Given the description of an element on the screen output the (x, y) to click on. 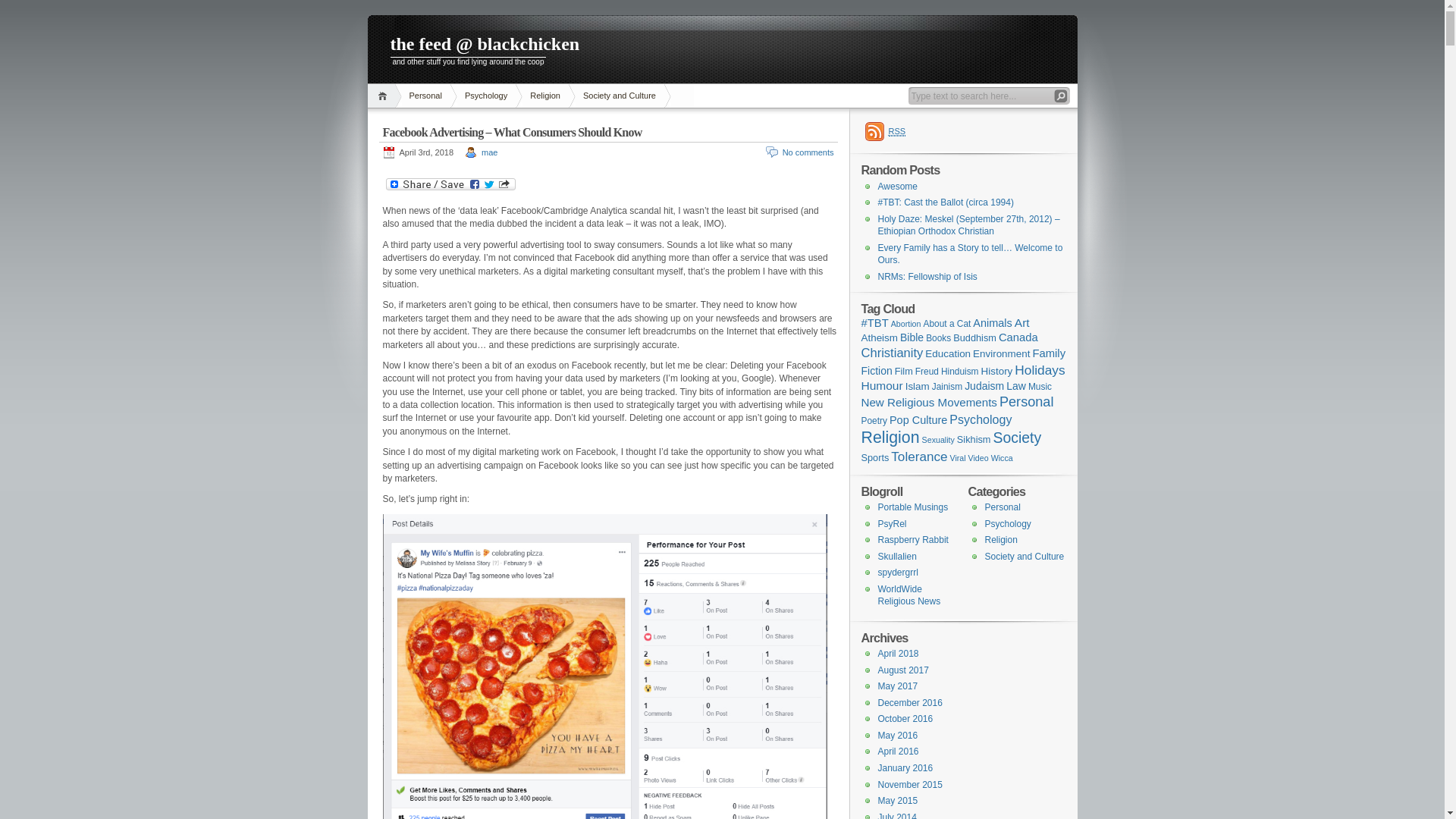
Animals Element type: text (991, 322)
Personal Element type: text (1026, 401)
May 2017 Element type: text (898, 685)
Pop Culture Element type: text (918, 420)
Psychology Element type: text (1007, 523)
Fiction Element type: text (876, 370)
Law Element type: text (1016, 385)
NRMs: Fellowship of Isis Element type: text (927, 276)
Art Element type: text (1021, 322)
Christianity Element type: text (892, 352)
August 2017 Element type: text (903, 670)
Personal Element type: text (425, 95)
Wicca Element type: text (1002, 457)
Psychology Element type: text (485, 95)
May 2015 Element type: text (898, 800)
Education Element type: text (947, 353)
History Element type: text (997, 370)
Abortion Element type: text (906, 323)
Raspberry Rabbit Element type: text (913, 539)
Freud Element type: text (926, 371)
Society and Culture Element type: text (1023, 556)
Sikhism Element type: text (974, 439)
Holidays Element type: text (1039, 369)
New Religious Movements Element type: text (929, 401)
Canada Element type: text (1018, 337)
December 2016 Element type: text (910, 702)
Humour Element type: text (882, 385)
WorldWide Religious News Element type: text (909, 595)
Atheism Element type: text (879, 337)
#TBT: Cast the Ballot (circa 1994) Element type: text (945, 202)
Sports Element type: text (875, 457)
Film Element type: text (903, 370)
Skullalien Element type: text (897, 556)
Viral Video Element type: text (968, 457)
Jainism Element type: text (946, 386)
Psychology Element type: text (980, 419)
Environment Element type: text (1000, 353)
Family Element type: text (1048, 353)
May 2016 Element type: text (898, 735)
Religion Element type: text (1000, 539)
the feed @ blackchicken Element type: text (721, 45)
mae Element type: text (489, 151)
Society and Culture Element type: text (619, 95)
Islam Element type: text (917, 386)
PsyRel Element type: text (892, 523)
April 2016 Element type: text (898, 751)
April 2018 Element type: text (898, 653)
Tolerance Element type: text (919, 456)
Books Element type: text (937, 337)
Home Element type: text (384, 95)
Society Element type: text (1016, 437)
Bible Element type: text (911, 337)
Portable Musings Element type: text (913, 507)
Religion Element type: text (890, 437)
Awesome Element type: text (897, 186)
RSS Element type: text (885, 131)
#TBT Element type: text (874, 322)
November 2015 Element type: text (910, 784)
Religion Element type: text (544, 95)
January 2016 Element type: text (905, 767)
About a Cat Element type: text (946, 323)
Buddhism Element type: text (974, 337)
Hinduism Element type: text (960, 371)
No comments Element type: text (808, 151)
Personal Element type: text (1001, 507)
Poetry Element type: text (874, 420)
Music Element type: text (1039, 386)
Sexuality Element type: text (938, 439)
Judaism Element type: text (984, 385)
spydergrrl Element type: text (898, 572)
October 2016 Element type: text (905, 718)
